Given the description of an element on the screen output the (x, y) to click on. 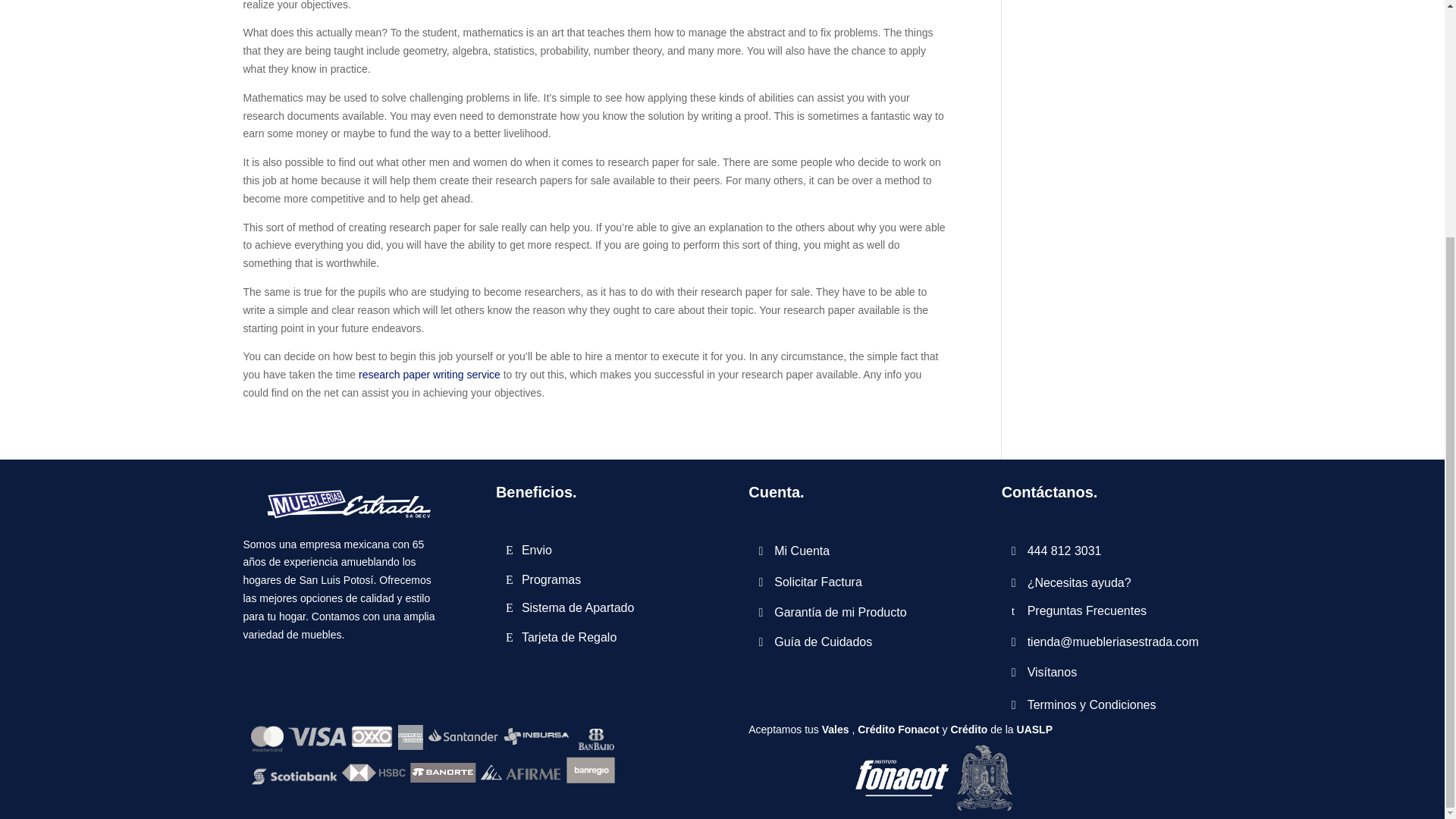
research paper writing service (429, 374)
3 (937, 777)
mueblerias estrada logoMesa de trabajo 5 (342, 501)
2 (432, 755)
Envio (529, 550)
